Given the description of an element on the screen output the (x, y) to click on. 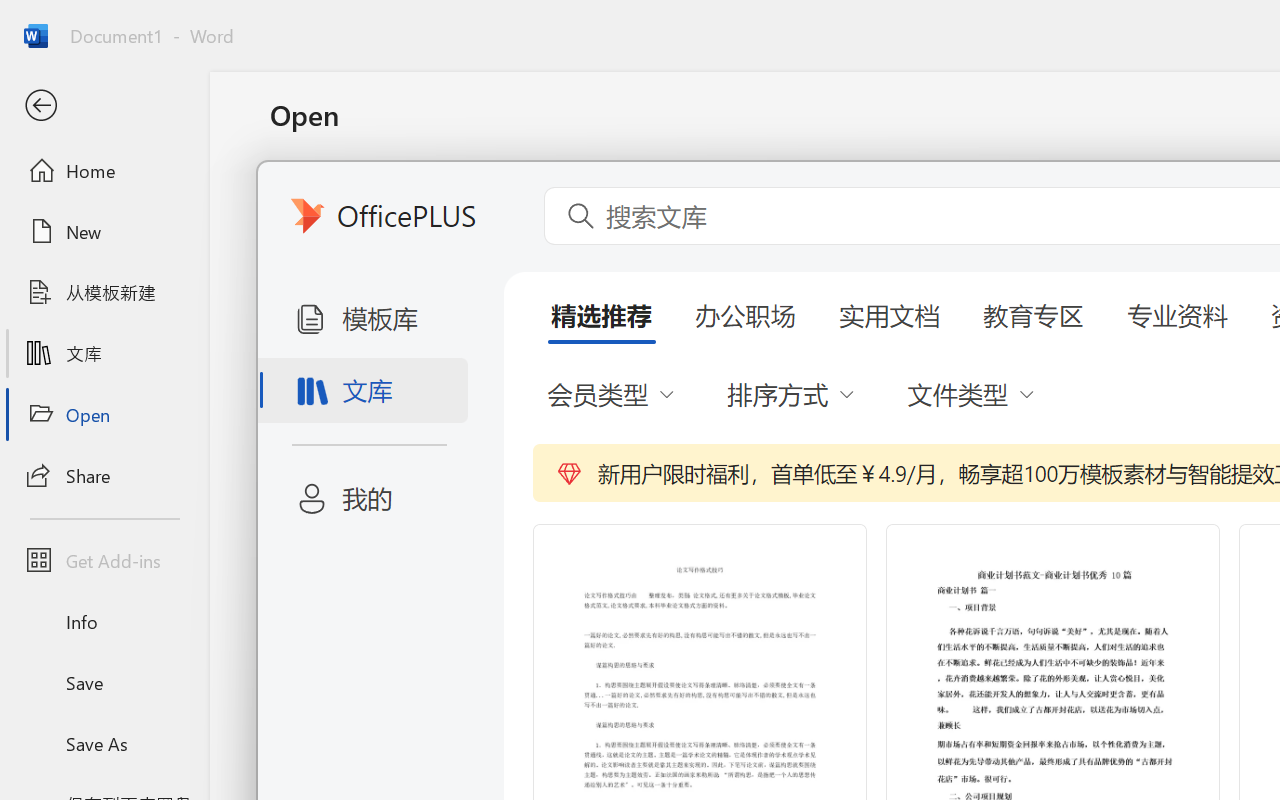
Save As (104, 743)
New (104, 231)
Back (104, 106)
